Given the description of an element on the screen output the (x, y) to click on. 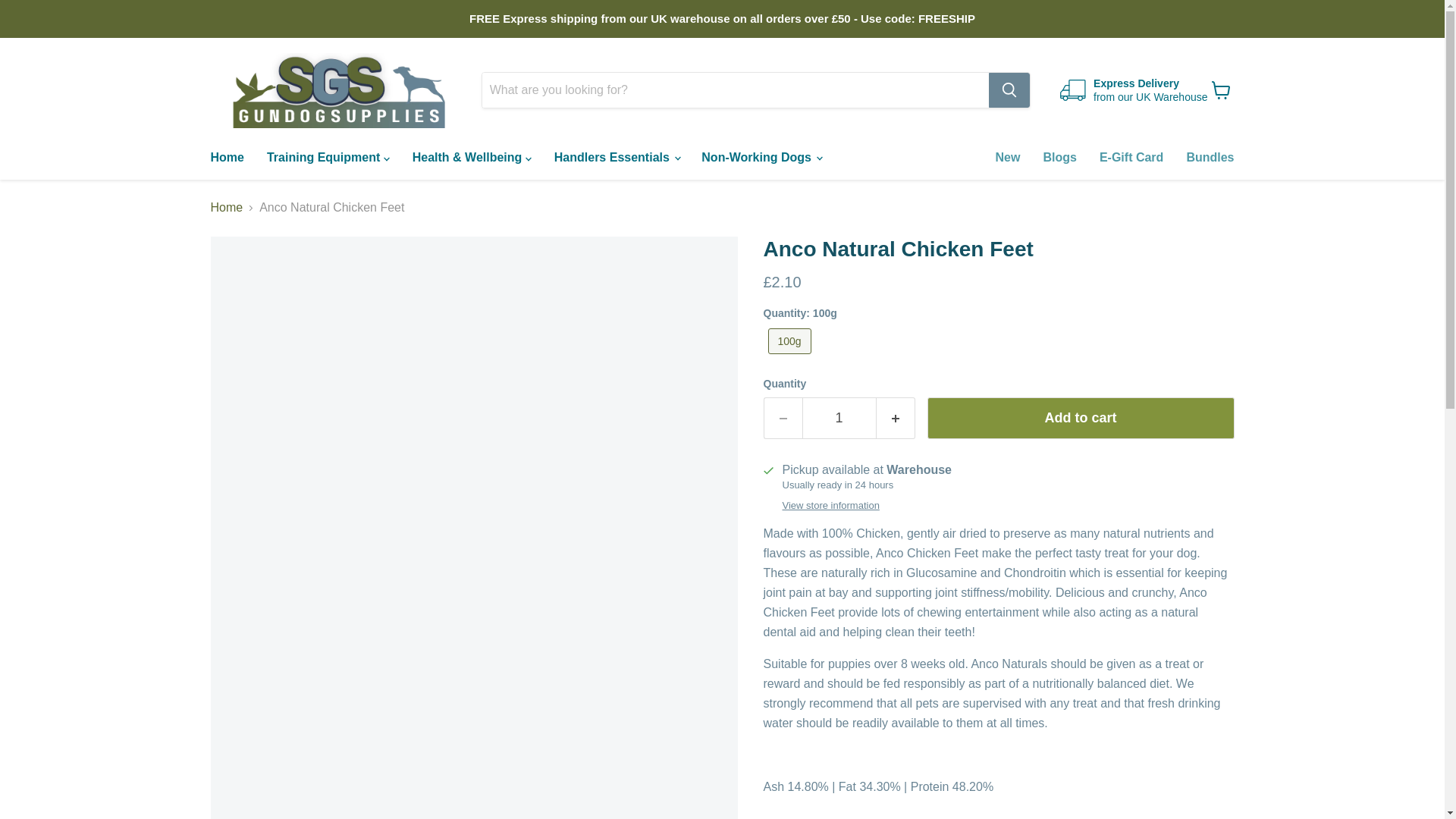
View cart (1221, 90)
Home (226, 157)
1 (839, 417)
